Given the description of an element on the screen output the (x, y) to click on. 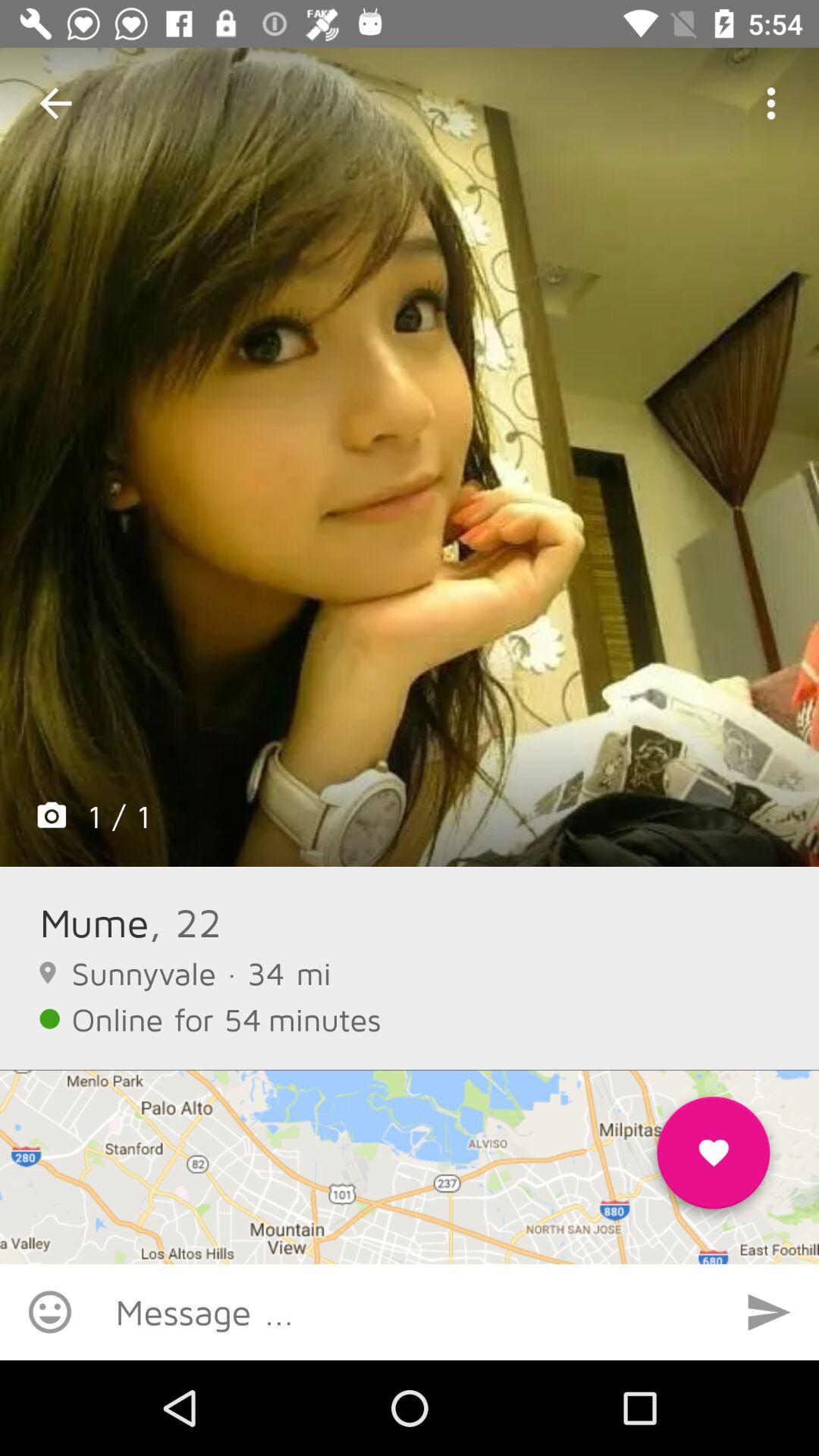
the option is used to send a message (769, 1312)
